Given the description of an element on the screen output the (x, y) to click on. 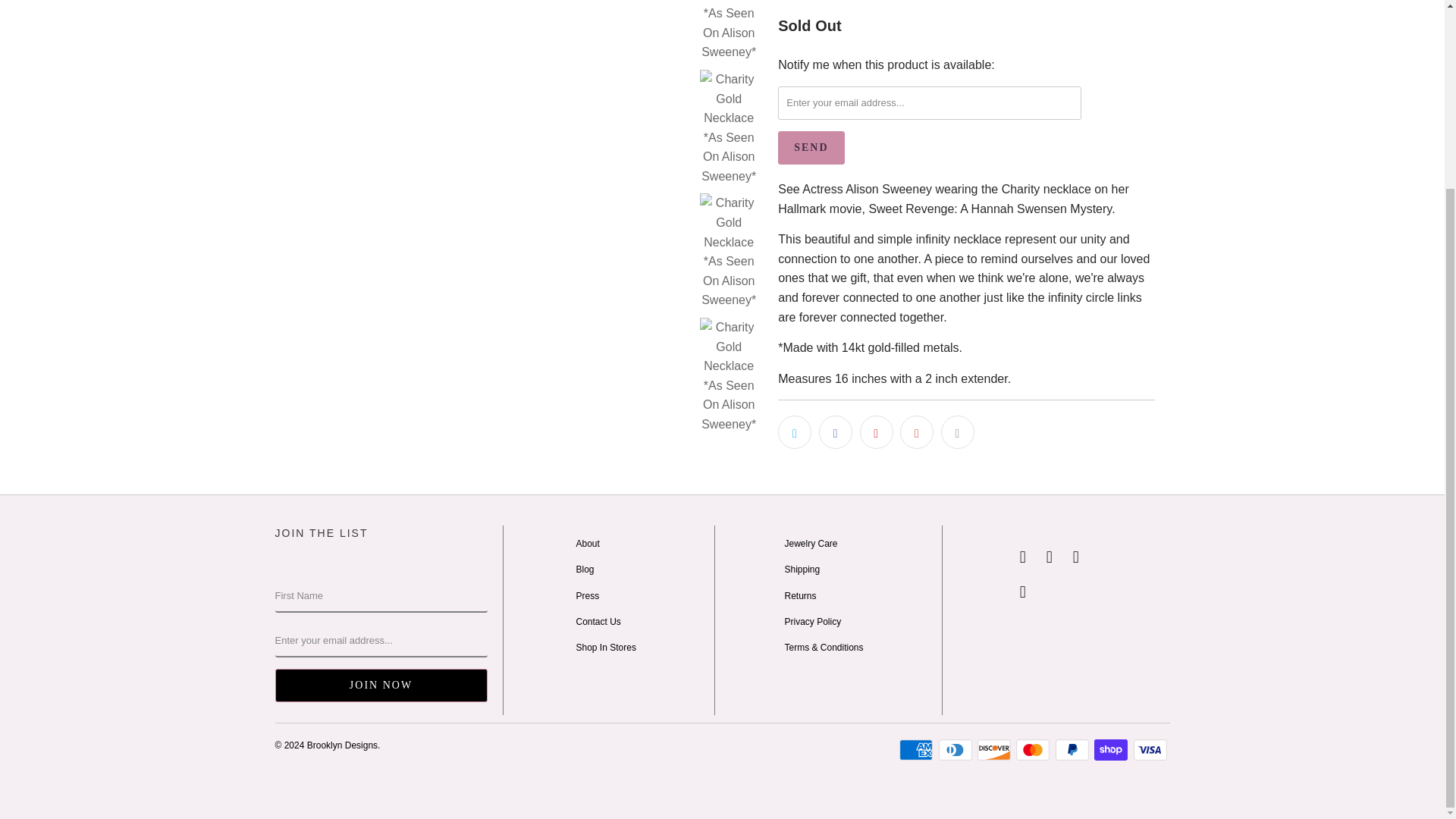
Shop Pay (1112, 749)
JOIN NOW (380, 685)
Send (810, 147)
Share this on Twitter (793, 431)
Visa (1150, 749)
Mastercard (1034, 749)
Share this on Facebook (834, 431)
Email this to a friend (957, 431)
Discover (994, 749)
Brooklyn Designs on Twitter (1022, 556)
